Given the description of an element on the screen output the (x, y) to click on. 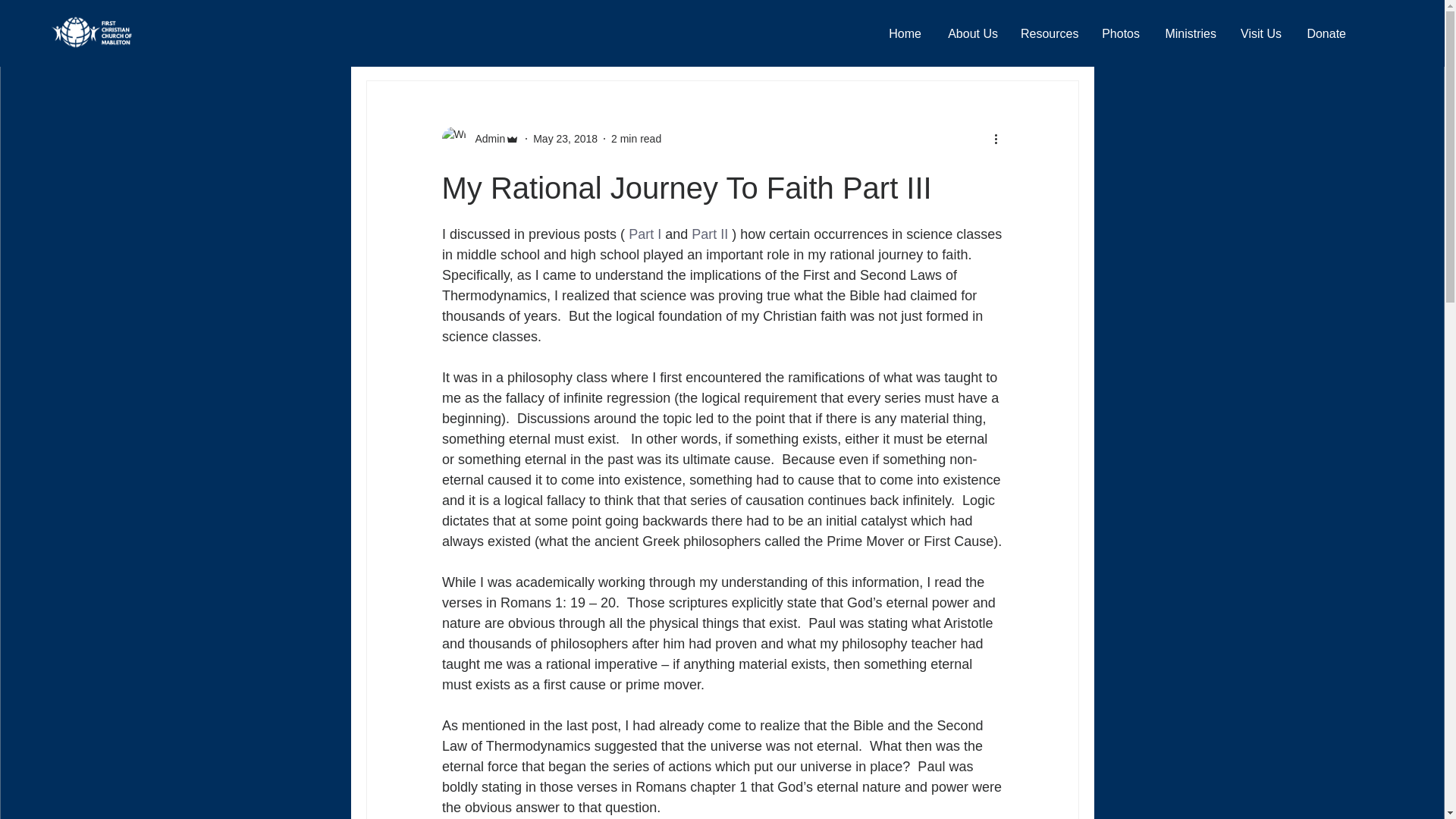
Home (904, 34)
Photos (1120, 34)
2 min read (636, 137)
May 23, 2018 (564, 137)
Resources (1049, 34)
Part I (644, 233)
About Us (971, 34)
Donate (1324, 34)
All Posts (388, 35)
Part II (709, 233)
Admin (485, 138)
Ministries (1189, 34)
Visit Us (1259, 34)
